Given the description of an element on the screen output the (x, y) to click on. 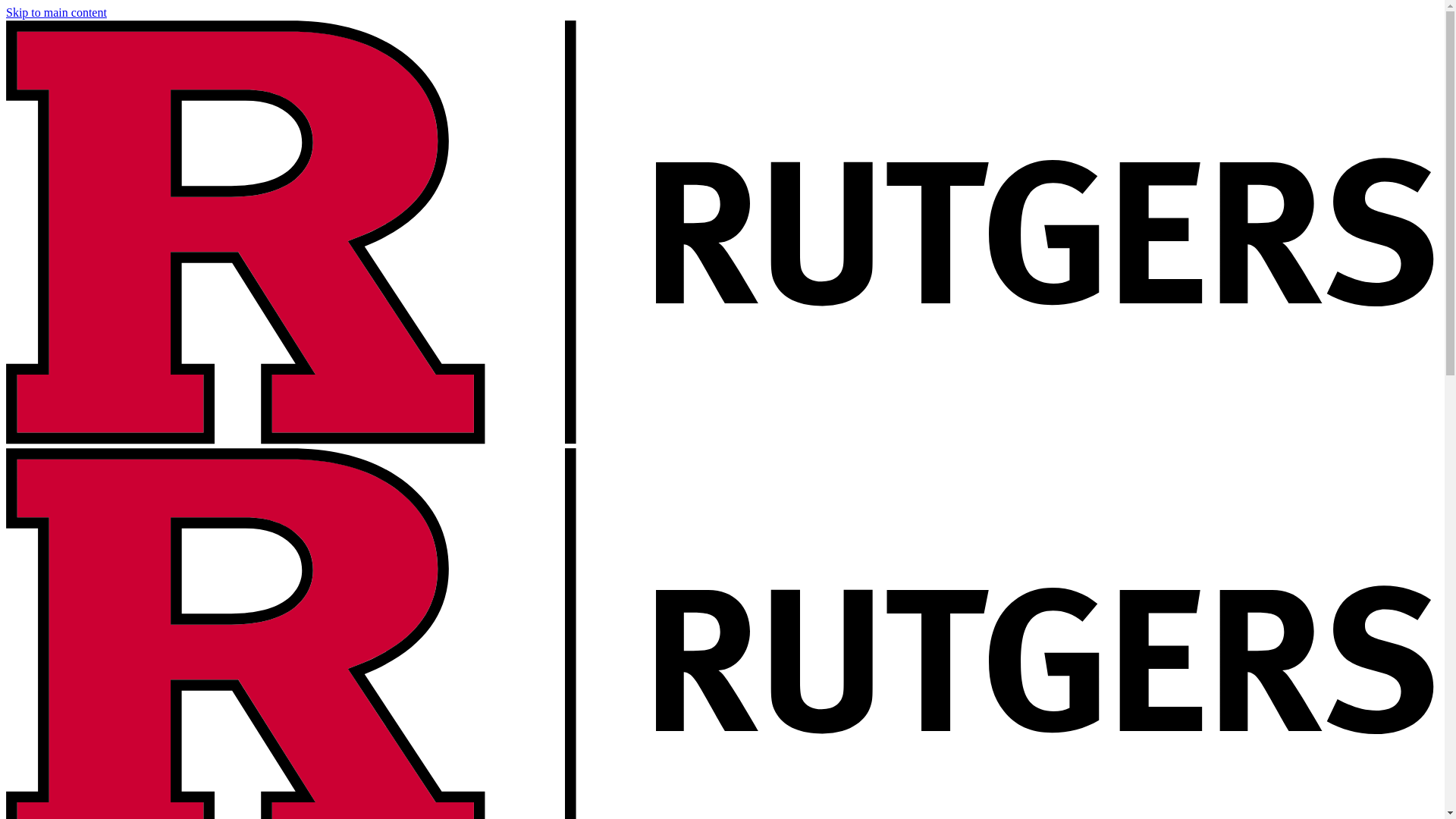
Skip to main content (55, 11)
